Given the description of an element on the screen output the (x, y) to click on. 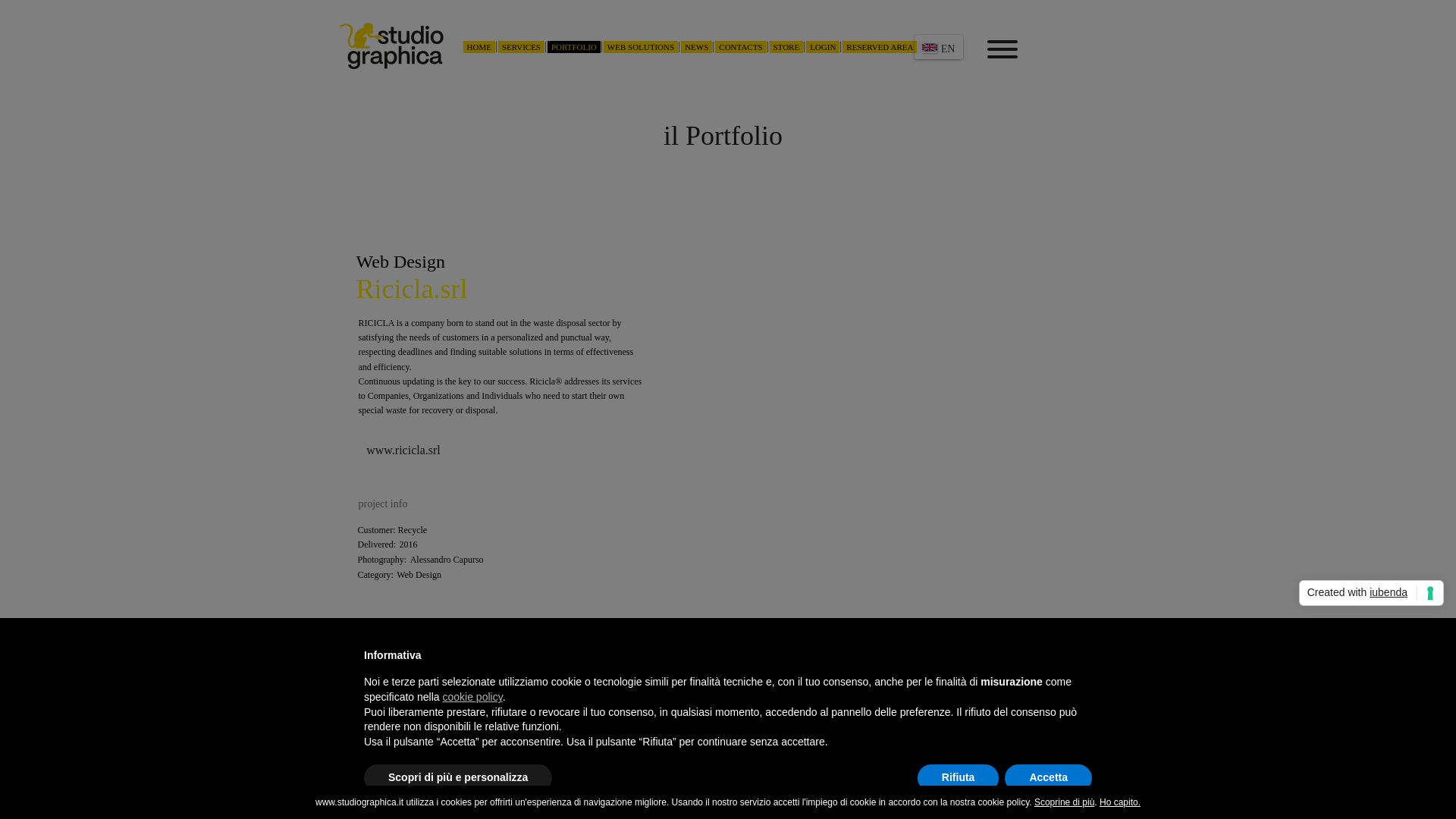
Created with iubenda (1371, 592)
Ho capito. (1119, 801)
Cookie policy (176, 732)
Accetta (1048, 777)
cookie policy (472, 696)
Rifiuta (957, 777)
